Given the description of an element on the screen output the (x, y) to click on. 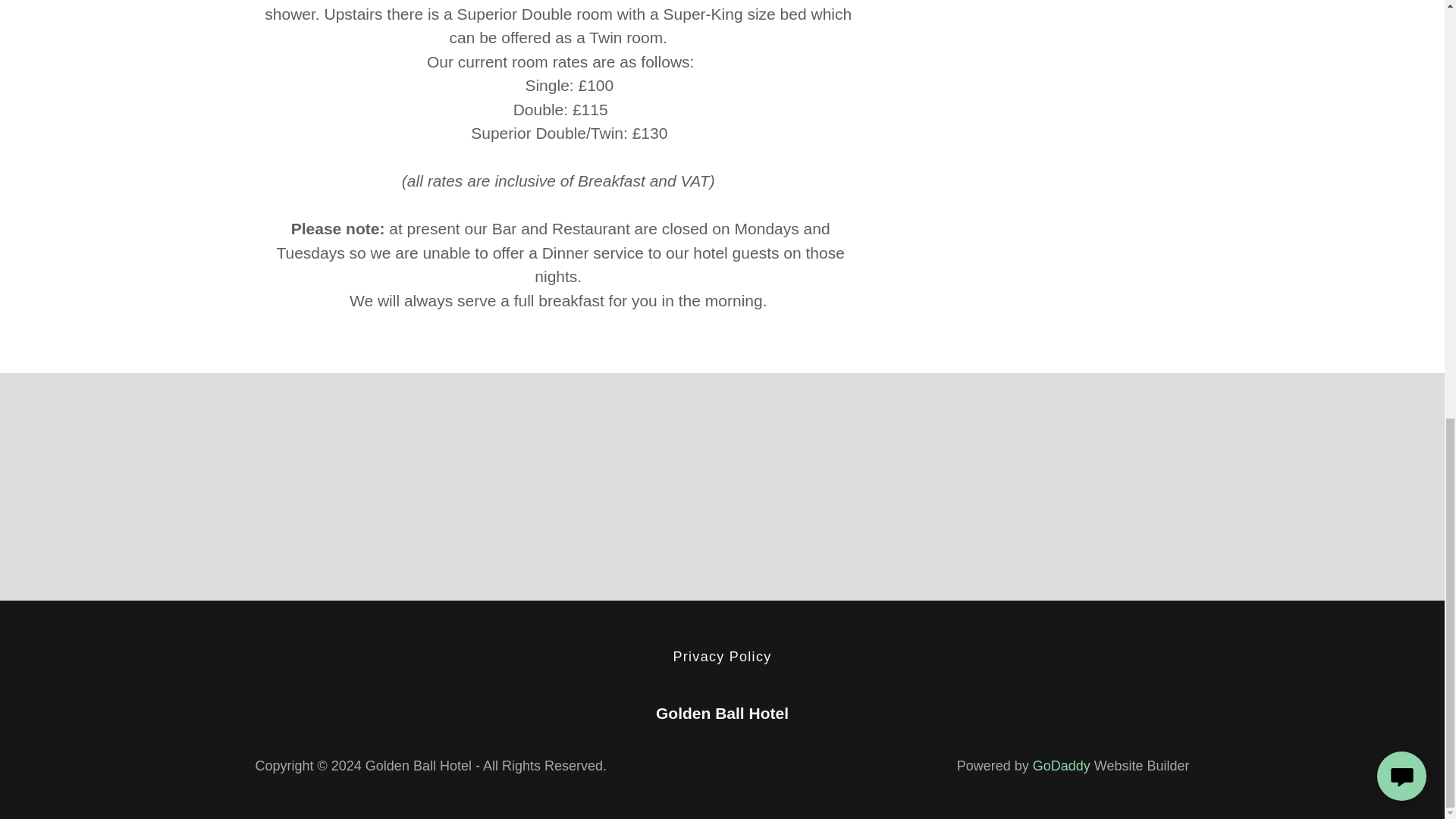
GoDaddy (1061, 765)
Privacy Policy (721, 656)
